Given the description of an element on the screen output the (x, y) to click on. 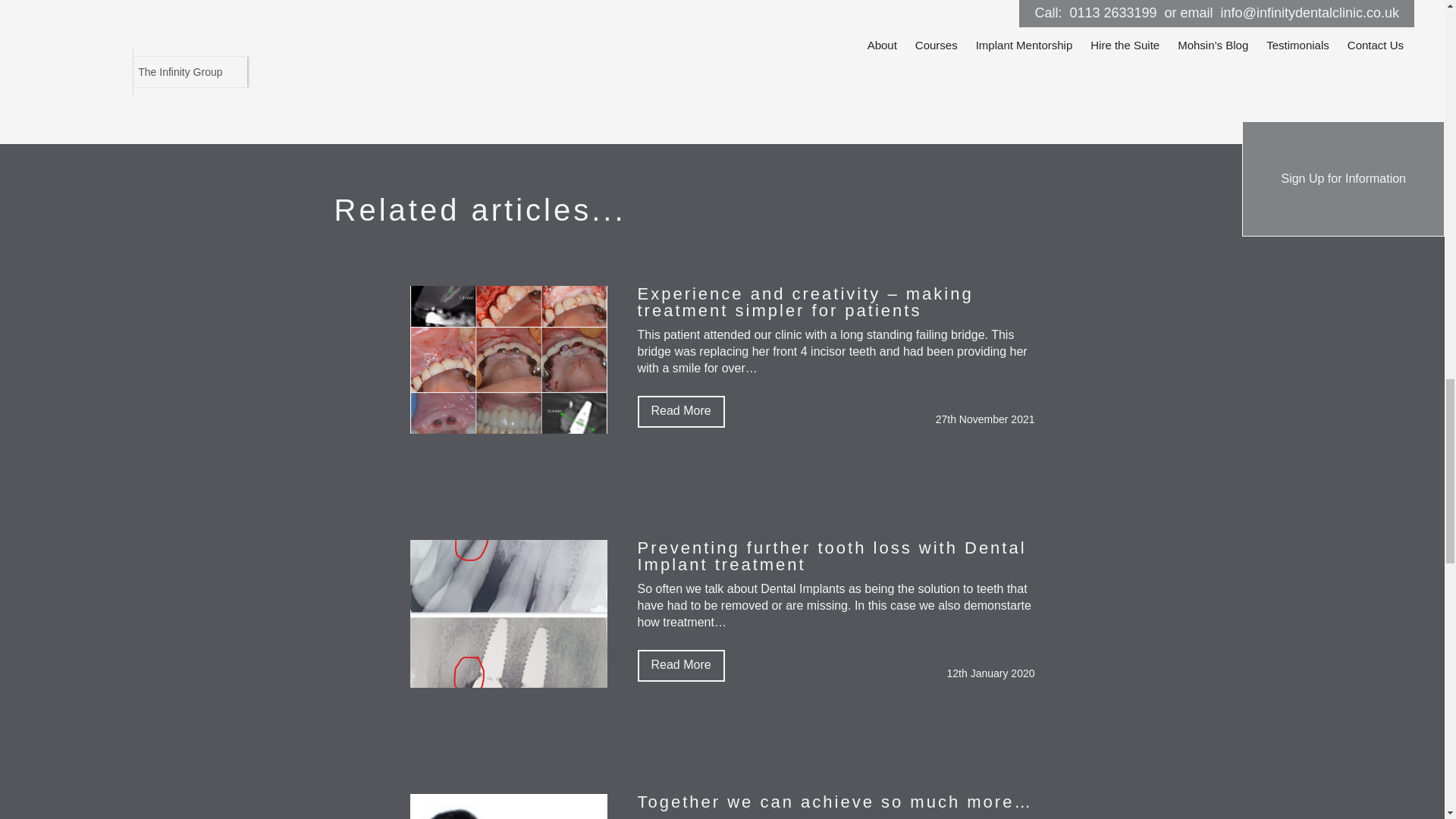
Subscribe (114, 64)
Subscribe (114, 64)
Read More (680, 665)
Read More (680, 411)
